Given the description of an element on the screen output the (x, y) to click on. 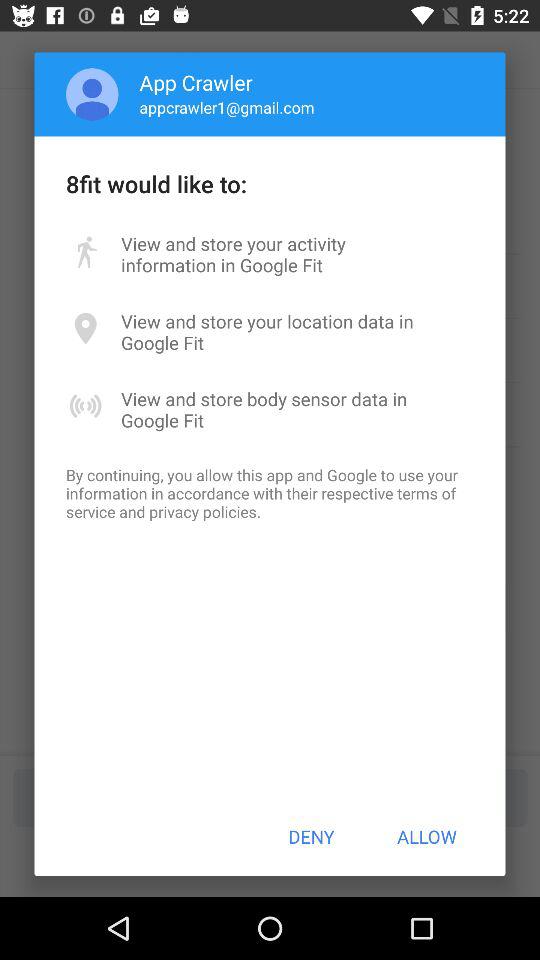
select the appcrawler1@gmail.com item (226, 107)
